Given the description of an element on the screen output the (x, y) to click on. 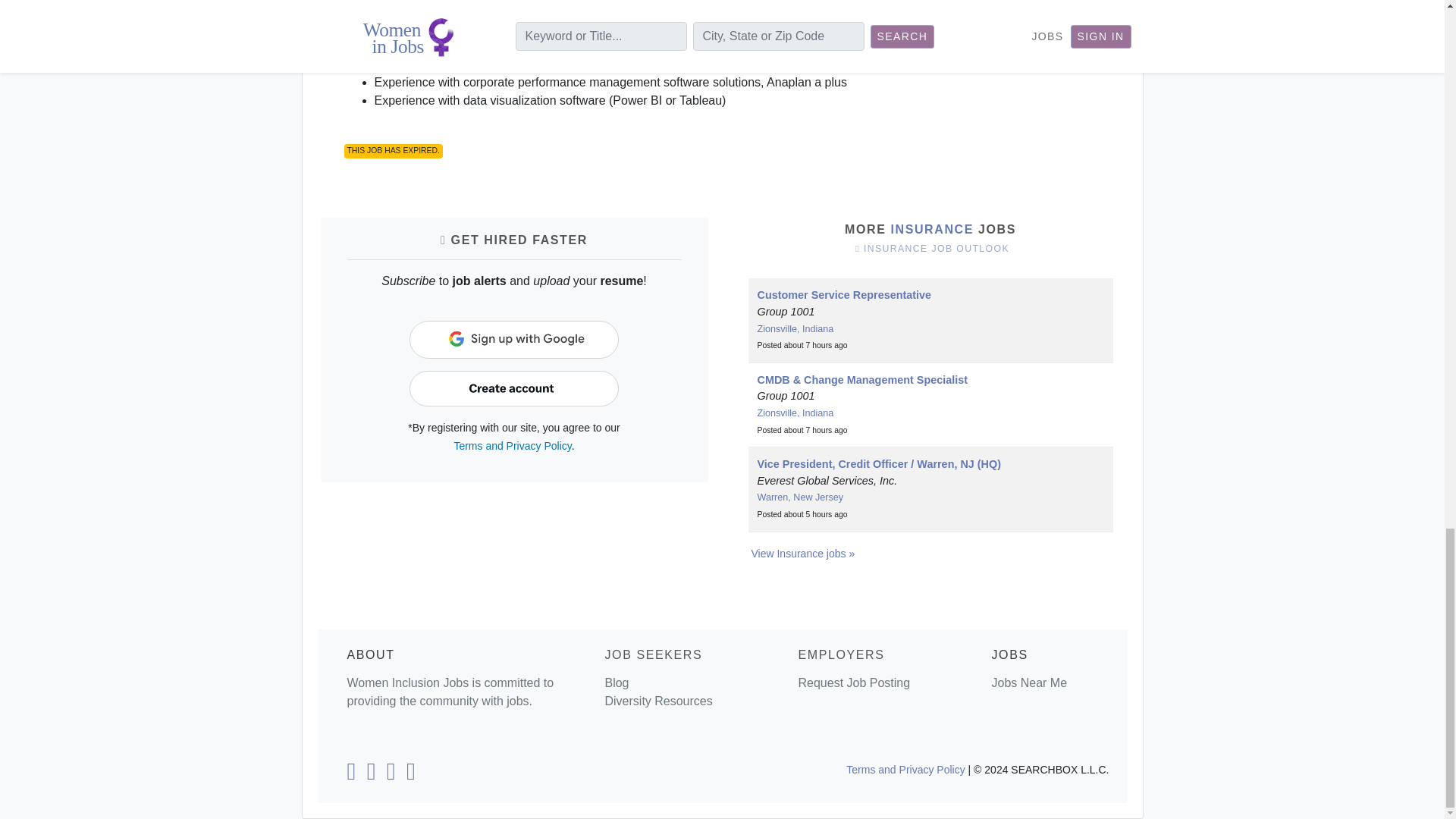
Zionsville, Indiana (794, 328)
Terms and Privacy Policy (511, 445)
Link to LinkedIn (350, 775)
Zionsville, Indiana (794, 412)
ABOUT (370, 654)
Blog (616, 682)
Warren, New Jersey (800, 497)
Link to Facebook (371, 775)
Diversity Resources (657, 700)
